Given the description of an element on the screen output the (x, y) to click on. 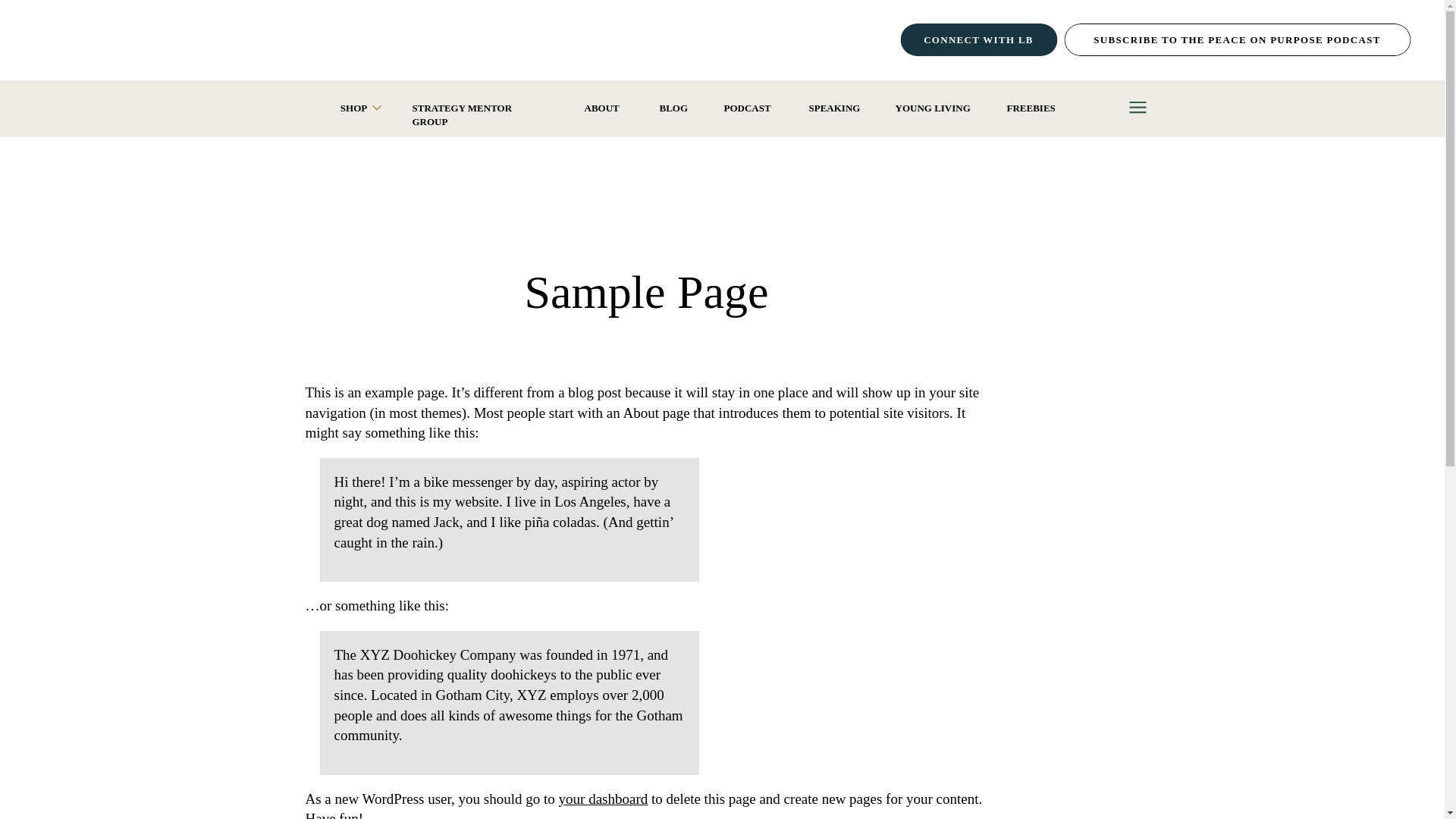
SHOP (352, 108)
STRATEGY MENTOR GROUP (480, 108)
FREEBIES (1032, 108)
CONNECT WITH LB (978, 39)
YOUNG LIVING (933, 108)
ABOUT (603, 108)
BLOG (673, 108)
SUBSCRIBE TO THE PEACE ON PURPOSE PODCAST (1237, 39)
SPEAKING (833, 108)
PODCAST (748, 108)
